Given the description of an element on the screen output the (x, y) to click on. 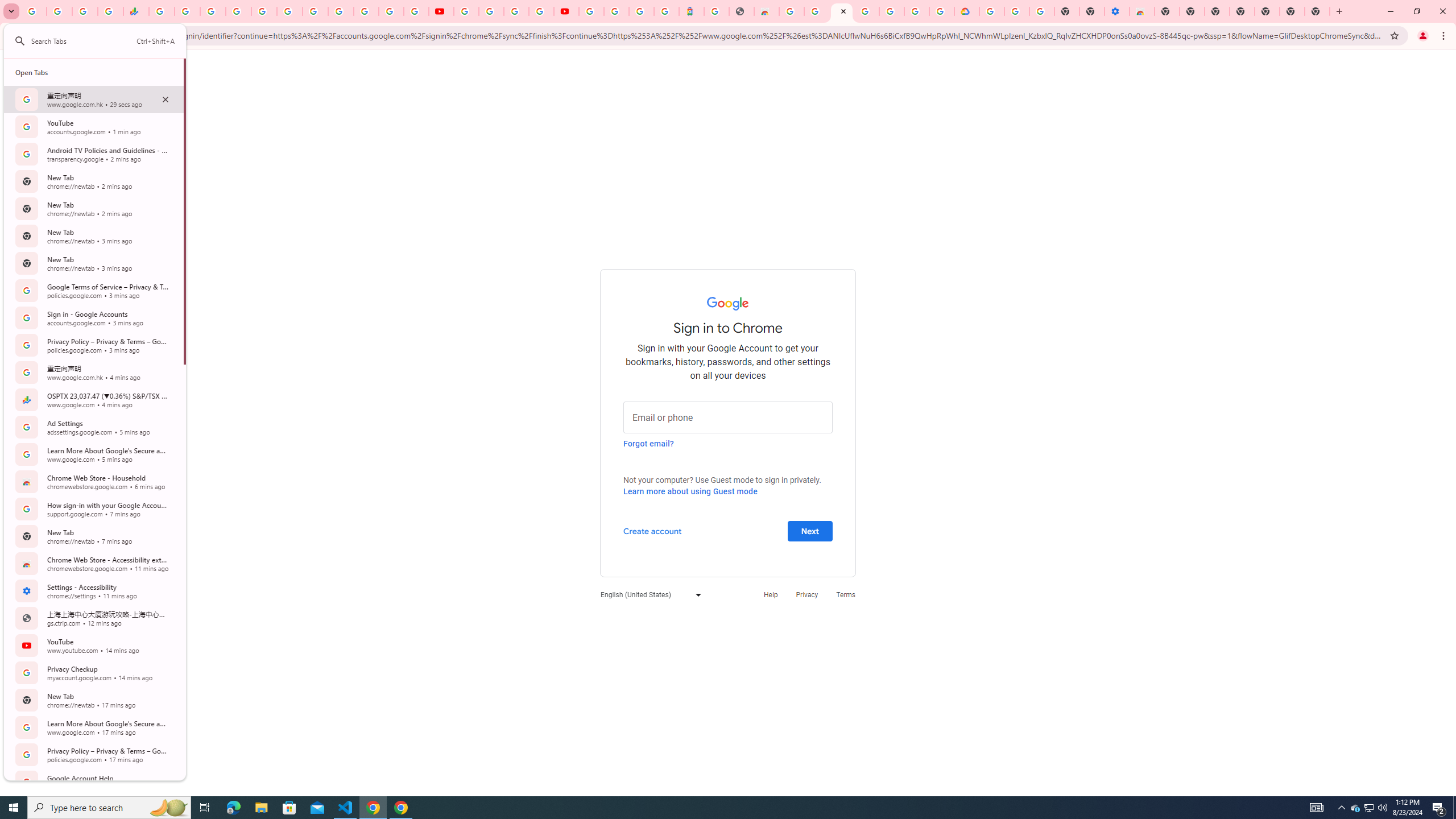
Content Creator Programs & Opportunities - YouTube Creators (565, 11)
Next (809, 530)
Sign in - Google Accounts (616, 11)
Show desktop (1454, 807)
New Tab newtab 3 mins ago Open Tab (93, 262)
Action Center, 2 new notifications (1439, 807)
Visual Studio Code - 1 running window (345, 807)
Android TV Policies and Guidelines - Transparency Center (315, 11)
YouTube (440, 11)
Google Account Help support.google.com 17 mins ago Open Tab (93, 782)
